Given the description of an element on the screen output the (x, y) to click on. 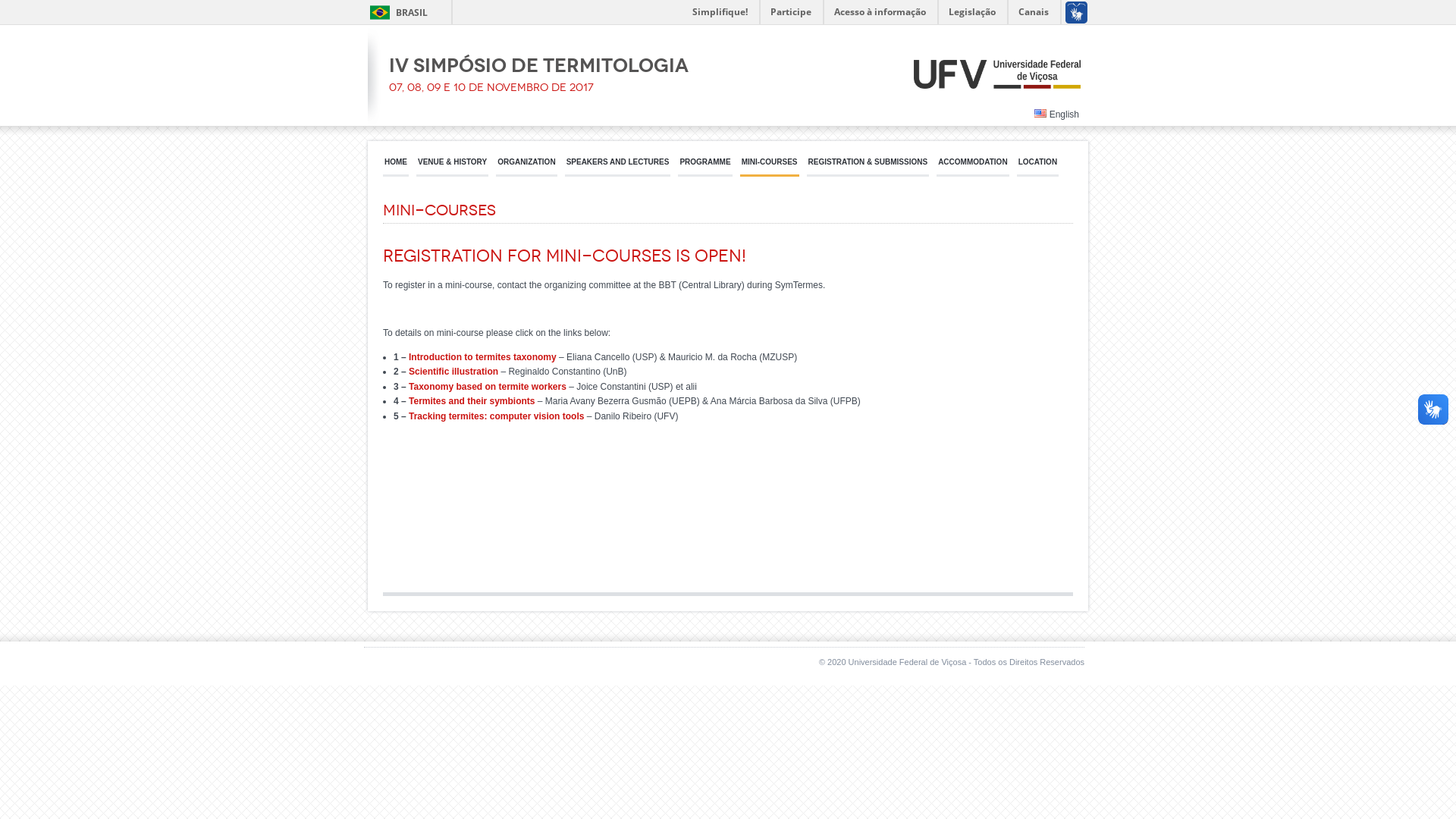
Taxonomy based on termite workers Element type: text (487, 386)
Scientific illustration Element type: text (453, 371)
BRASIL Element type: text (396, 12)
REGISTRATION & SUBMISSIONS Element type: text (867, 166)
Termites and their symbionts Element type: text (471, 400)
ACCOMMODATION Element type: text (972, 166)
ORGANIZATION Element type: text (525, 166)
English Element type: text (1056, 114)
Introduction to termites taxonomy Element type: text (482, 356)
MINI-COURSES Element type: text (769, 166)
PROGRAMME Element type: text (704, 166)
Tracking termites: computer vision tools Element type: text (495, 416)
VENUE & HISTORY Element type: text (452, 166)
HOME Element type: text (395, 166)
LOCATION Element type: text (1037, 166)
SPEAKERS AND LECTURES Element type: text (617, 166)
